Given the description of an element on the screen output the (x, y) to click on. 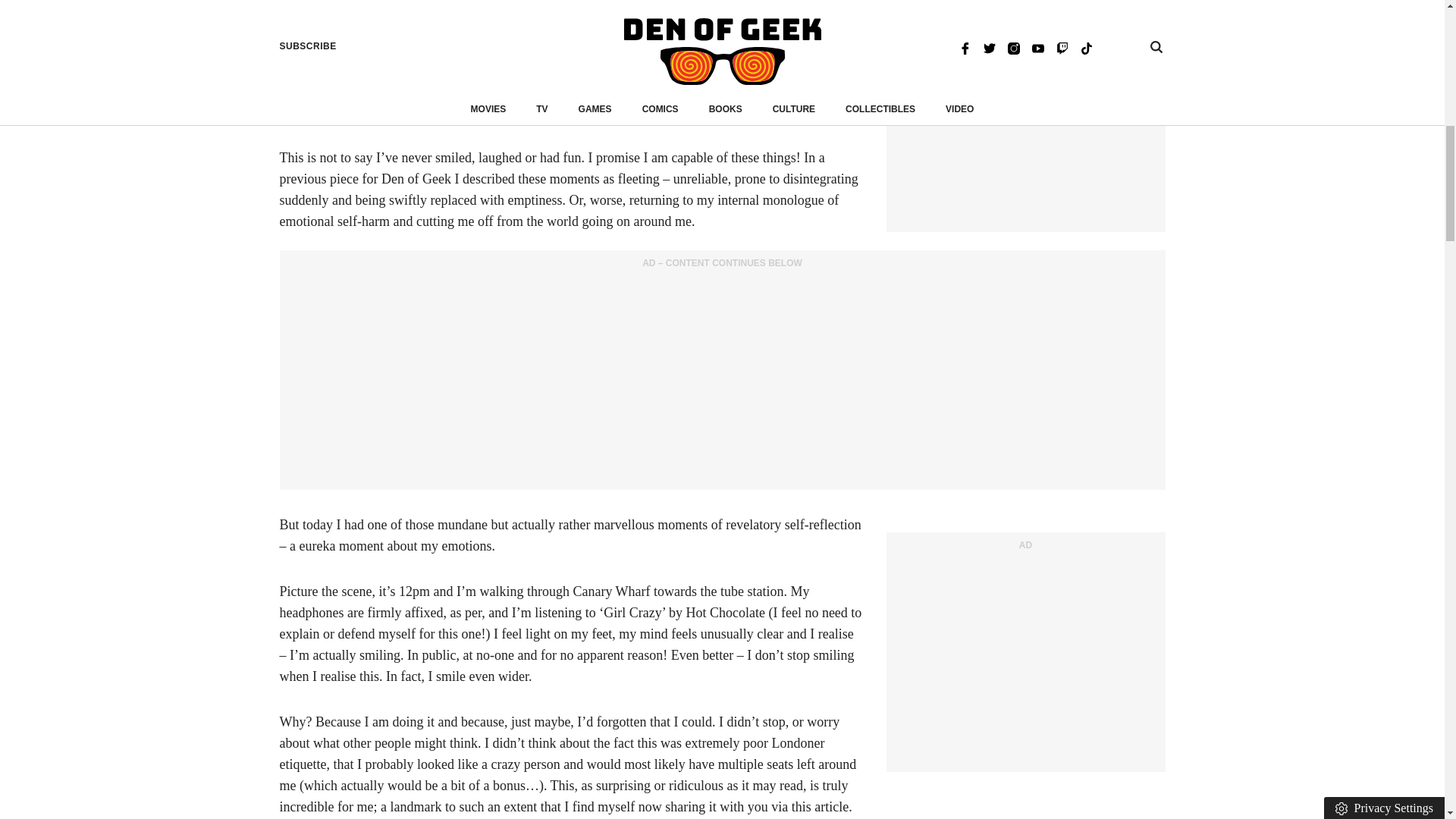
50 (467, 4)
